Given the description of an element on the screen output the (x, y) to click on. 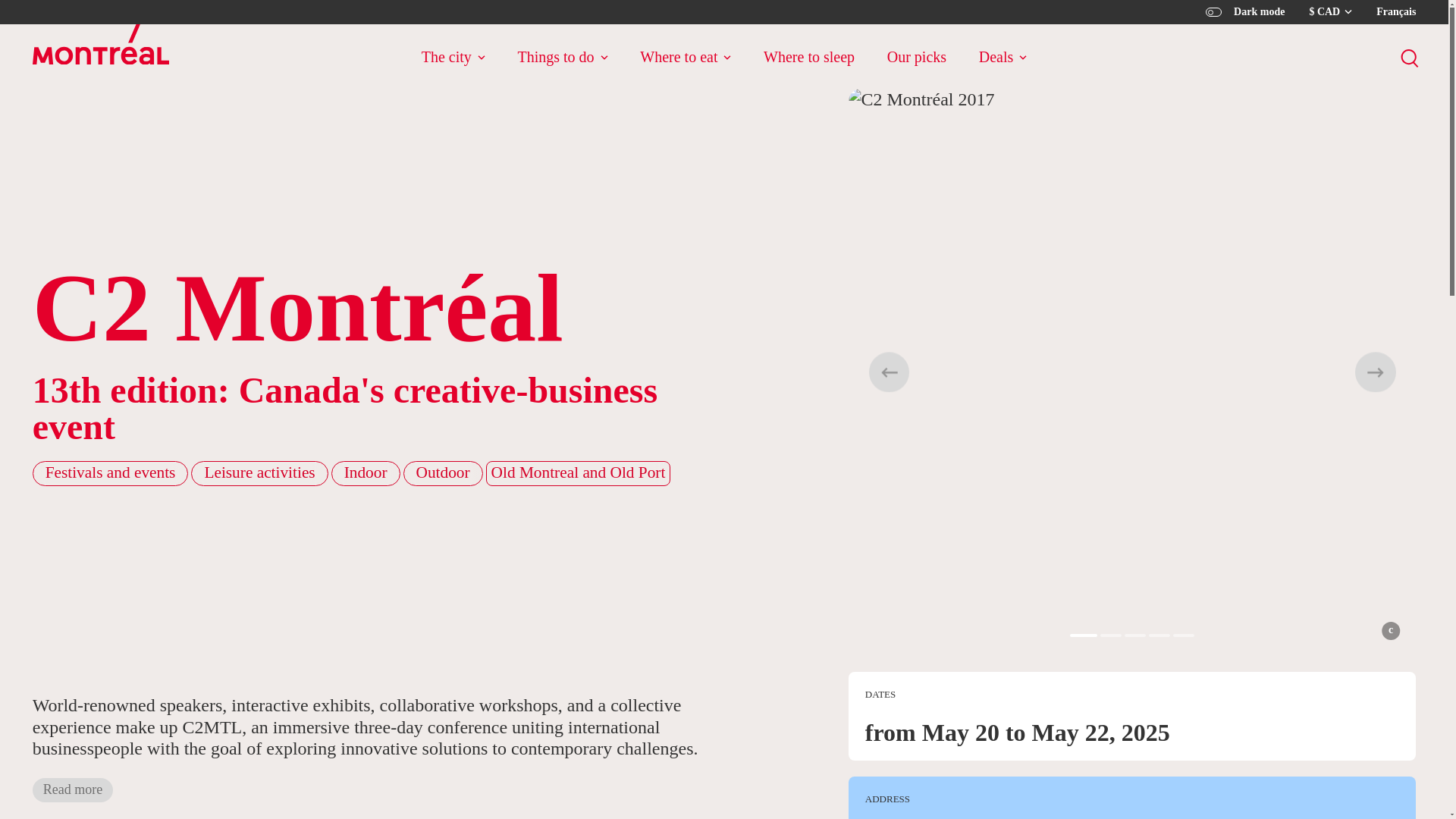
Dark mode (1244, 12)
Things to do (561, 56)
The city (453, 56)
Our picks (916, 56)
Where to sleep (808, 56)
Where to eat (685, 56)
Read more (72, 790)
c (1390, 630)
Skip to main content (31, 27)
